Given the description of an element on the screen output the (x, y) to click on. 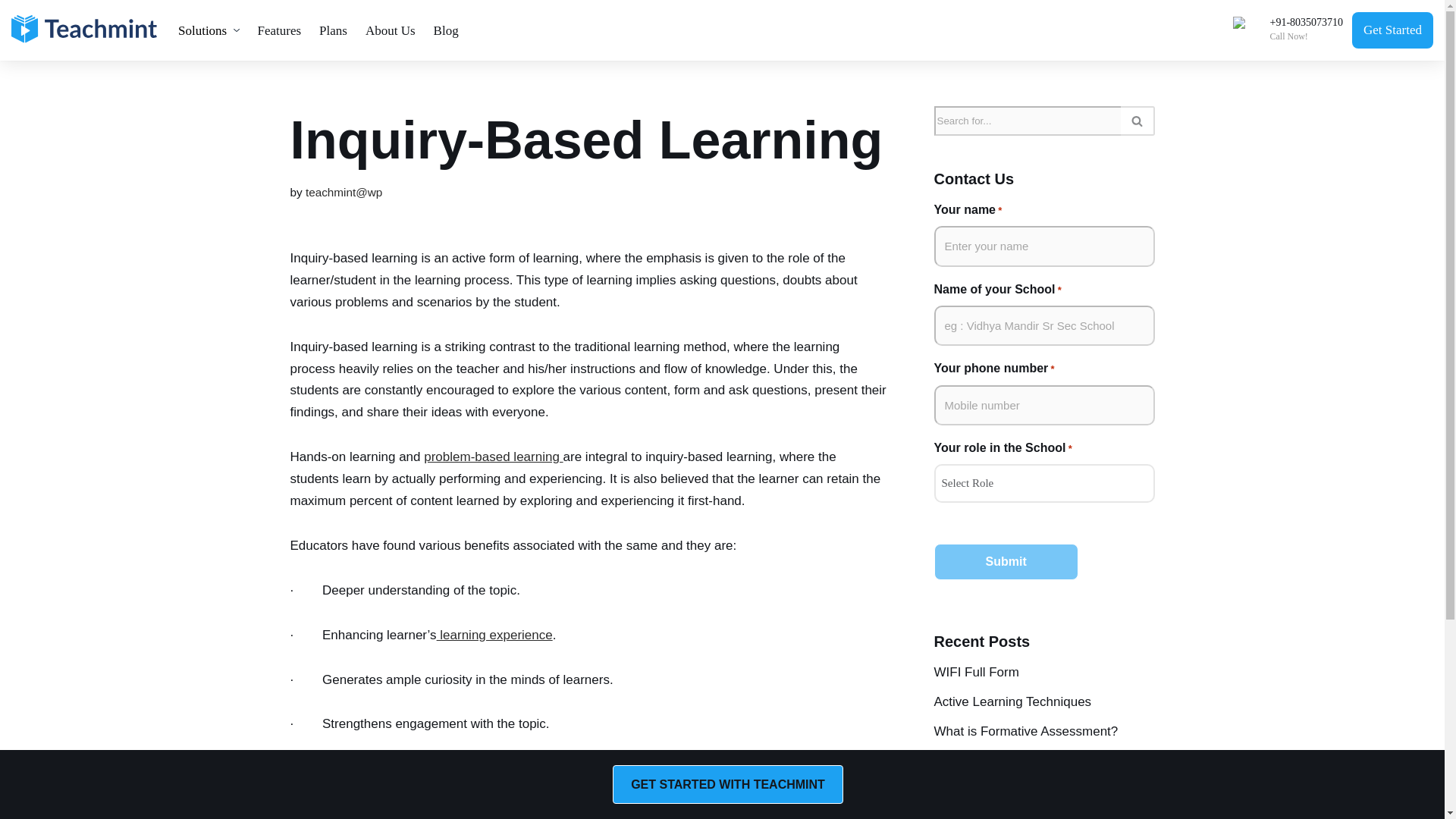
About Us (390, 30)
Plans (333, 30)
Features (279, 30)
Blog (446, 30)
Skip to content (11, 31)
Submit (1006, 561)
